Given the description of an element on the screen output the (x, y) to click on. 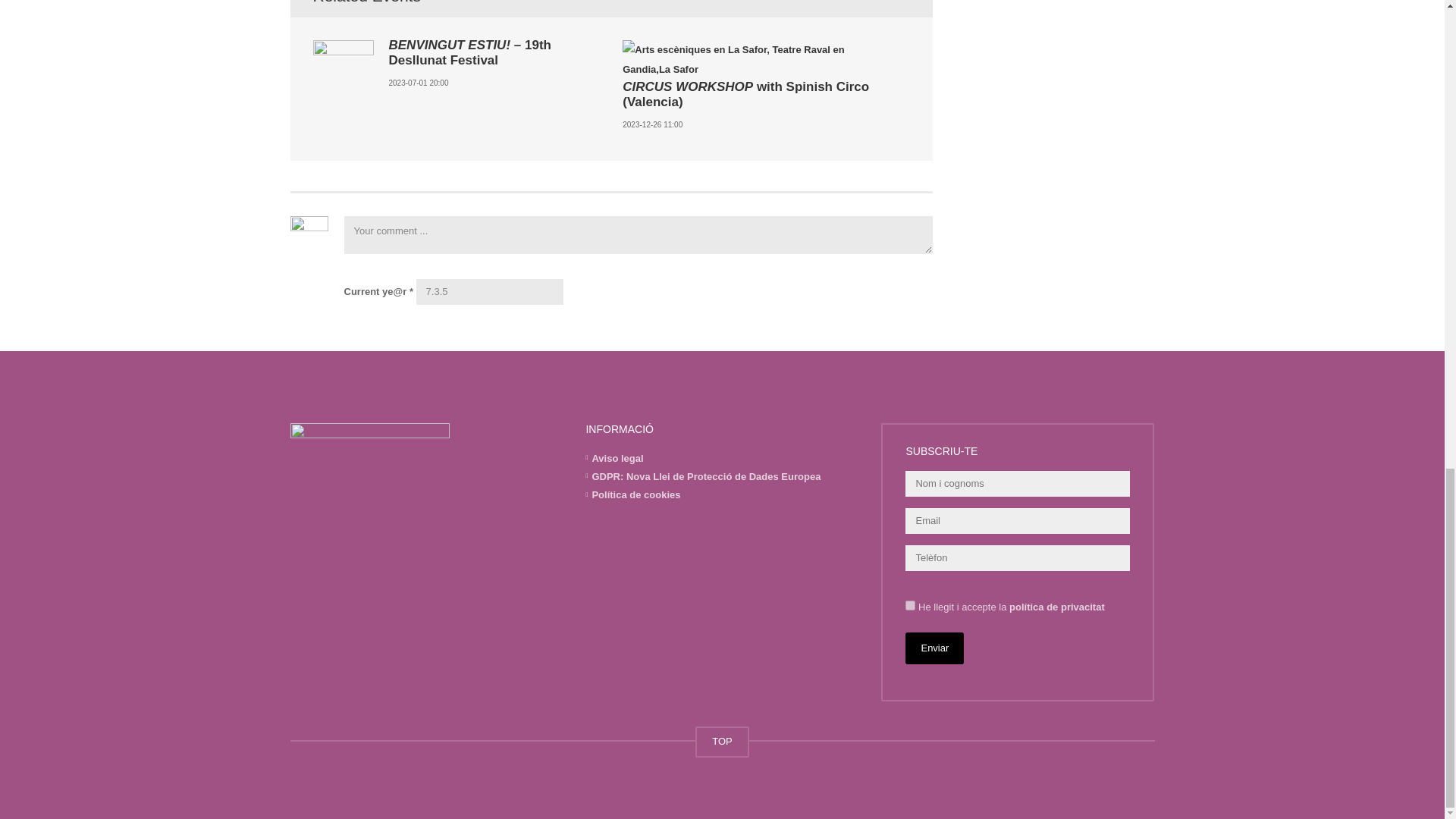
7.3.5 (489, 291)
Enviar (934, 648)
1 (910, 605)
Aviso legal (617, 457)
Enviar (934, 648)
TOP (722, 741)
